Given the description of an element on the screen output the (x, y) to click on. 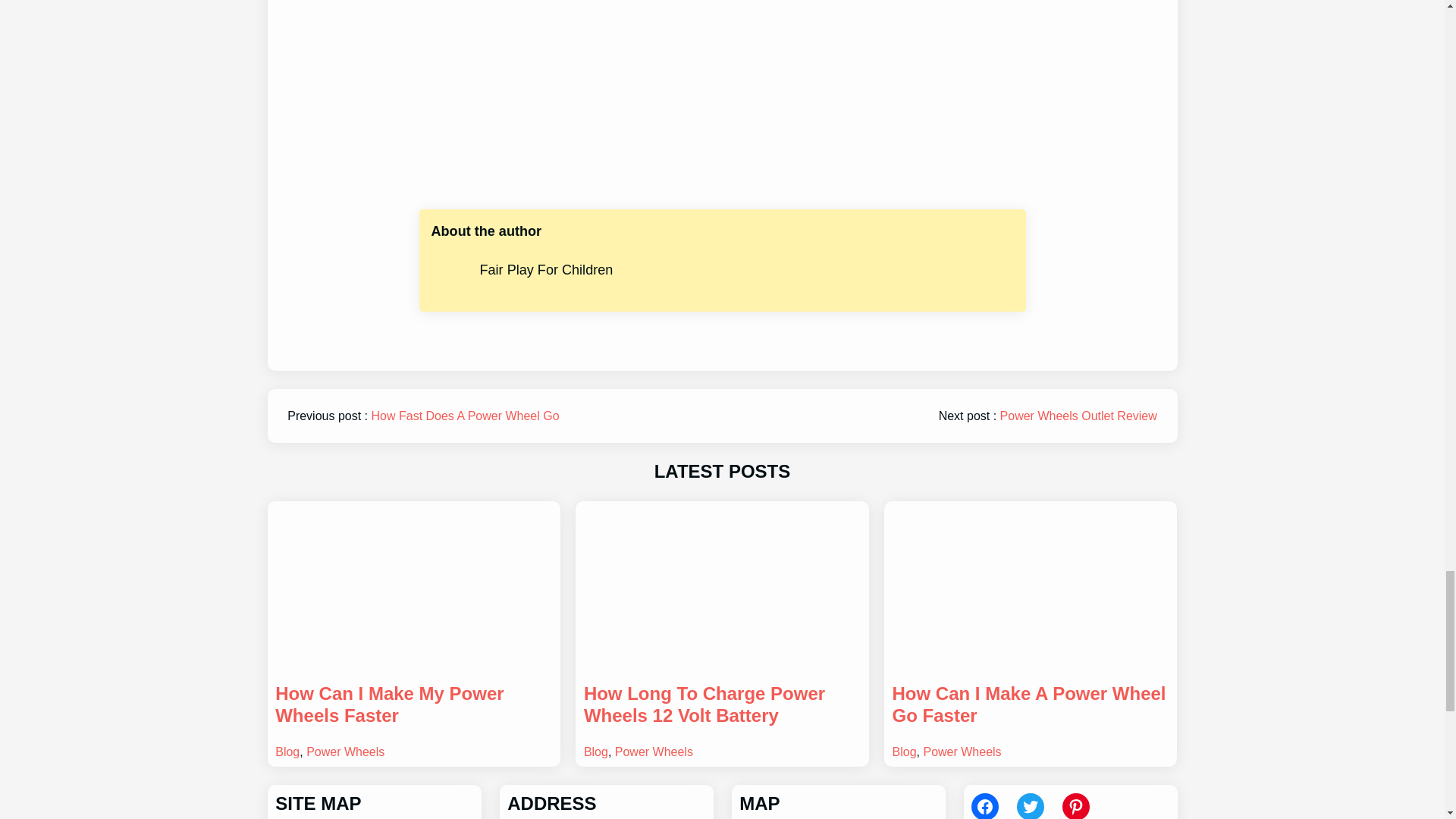
How Long To Charge Power Wheels 12 Volt Battery (721, 705)
Power Wheels Outlet Review (1078, 415)
Power Wheels (962, 751)
Twitter (1029, 806)
Pinterest (1075, 806)
How Can I Make My Power Wheels Faster (413, 705)
Facebook (984, 806)
How Can I Make A Power Wheel Go Faster (1030, 705)
Blog (595, 751)
Blog (287, 751)
